Given the description of an element on the screen output the (x, y) to click on. 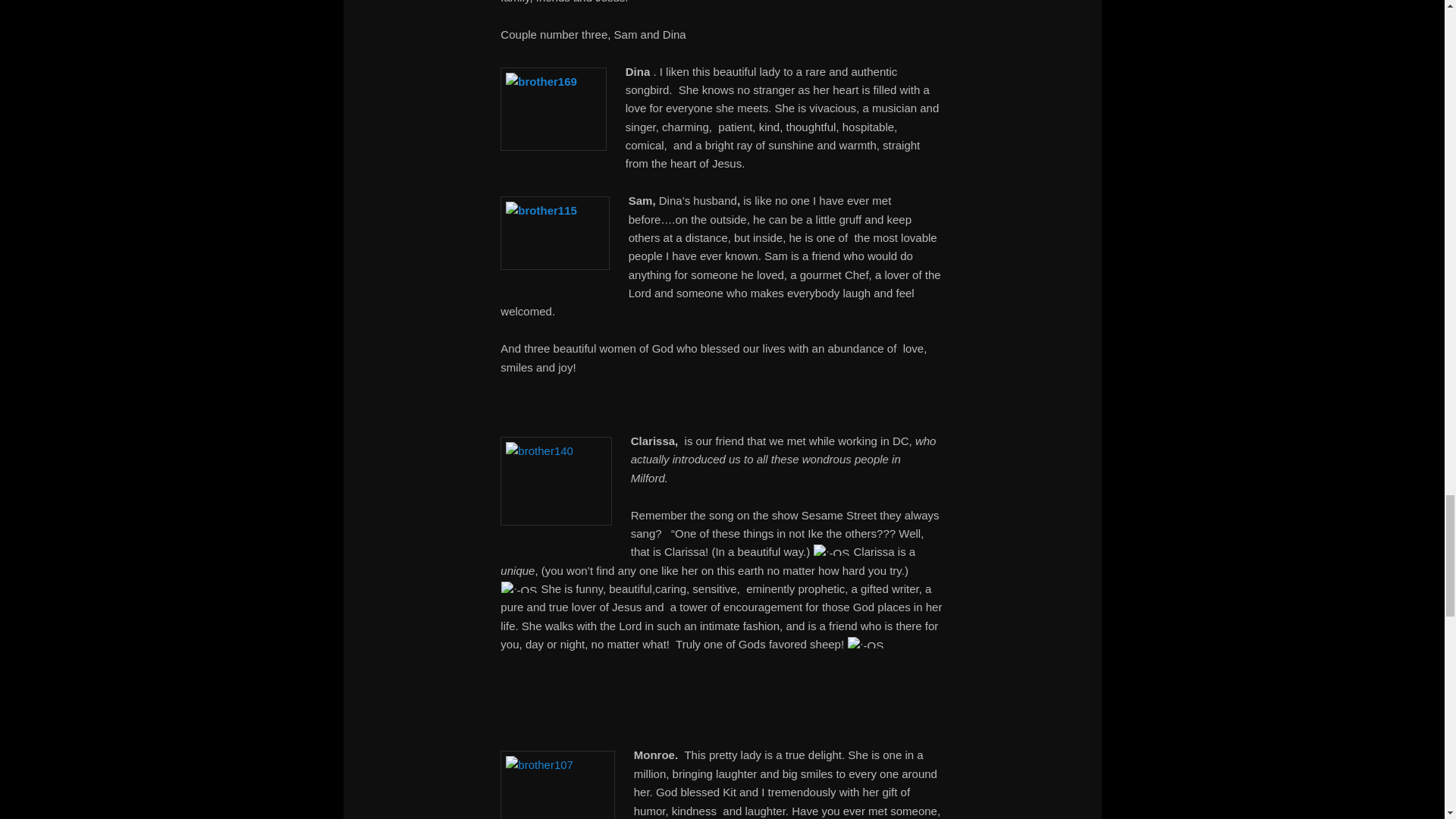
Google Image (555, 233)
Google Image (553, 108)
Google Image (557, 785)
Google Image (555, 480)
